Given the description of an element on the screen output the (x, y) to click on. 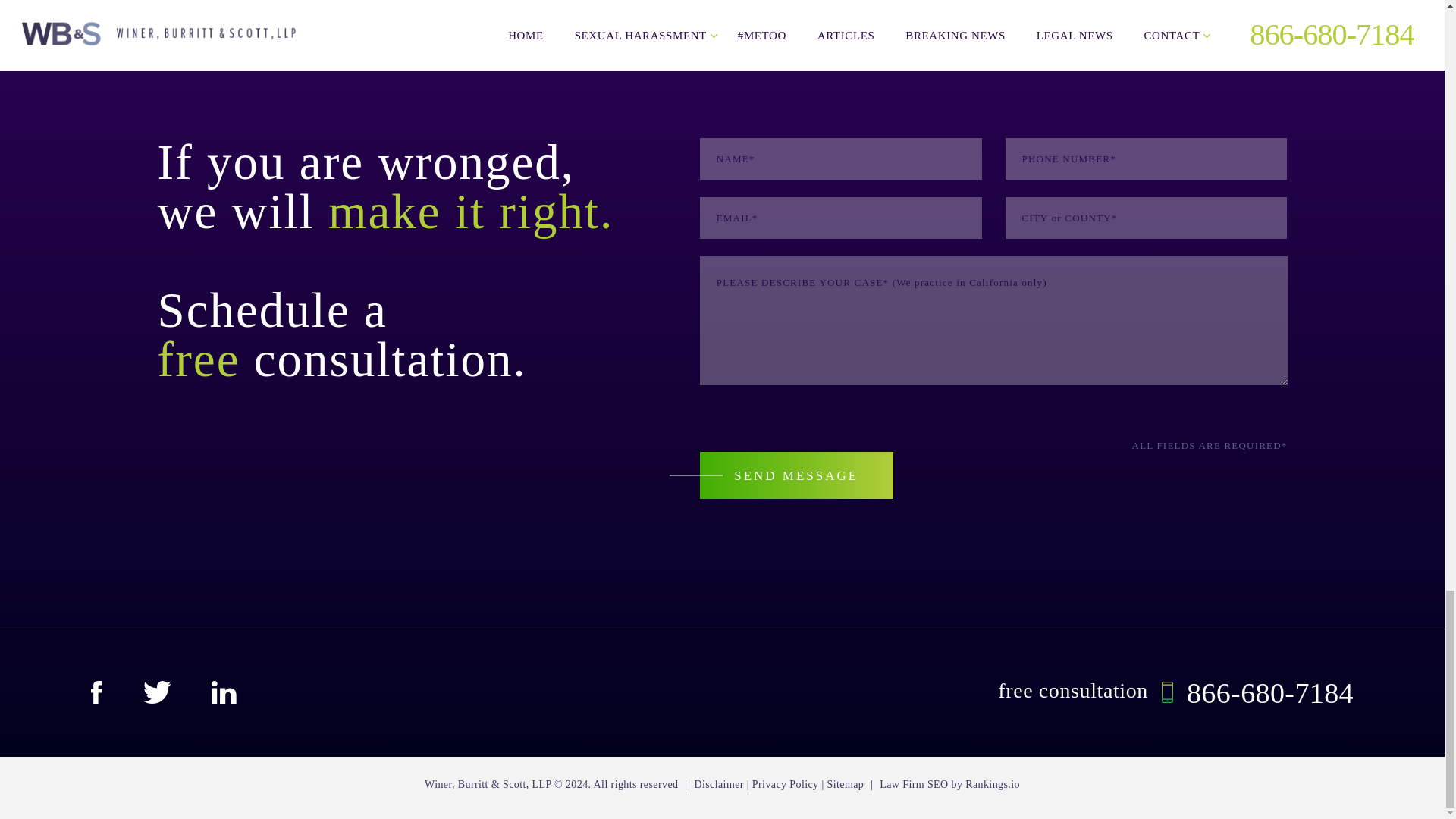
SEND MESSAGE (796, 475)
